Given the description of an element on the screen output the (x, y) to click on. 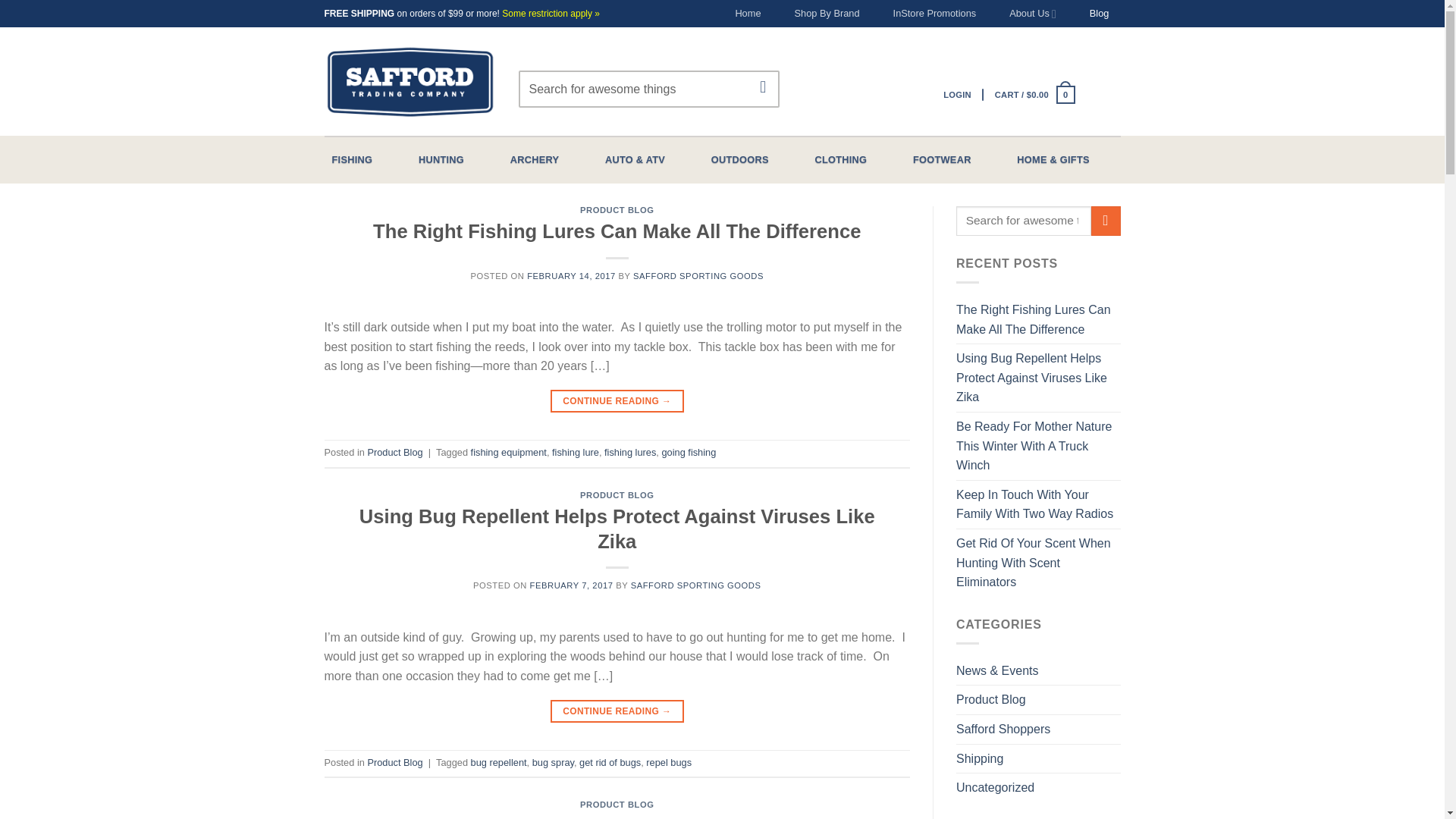
Call us anytime (826, 13)
News and Events from Safford Sporting Goods (997, 670)
Home (747, 13)
Blog (1099, 13)
HUNTING (440, 159)
LOGIN (957, 94)
Cart (1034, 94)
Shop By Brand (826, 13)
InStore Promotions (935, 13)
FISHING (352, 159)
About Us (1032, 13)
